Given the description of an element on the screen output the (x, y) to click on. 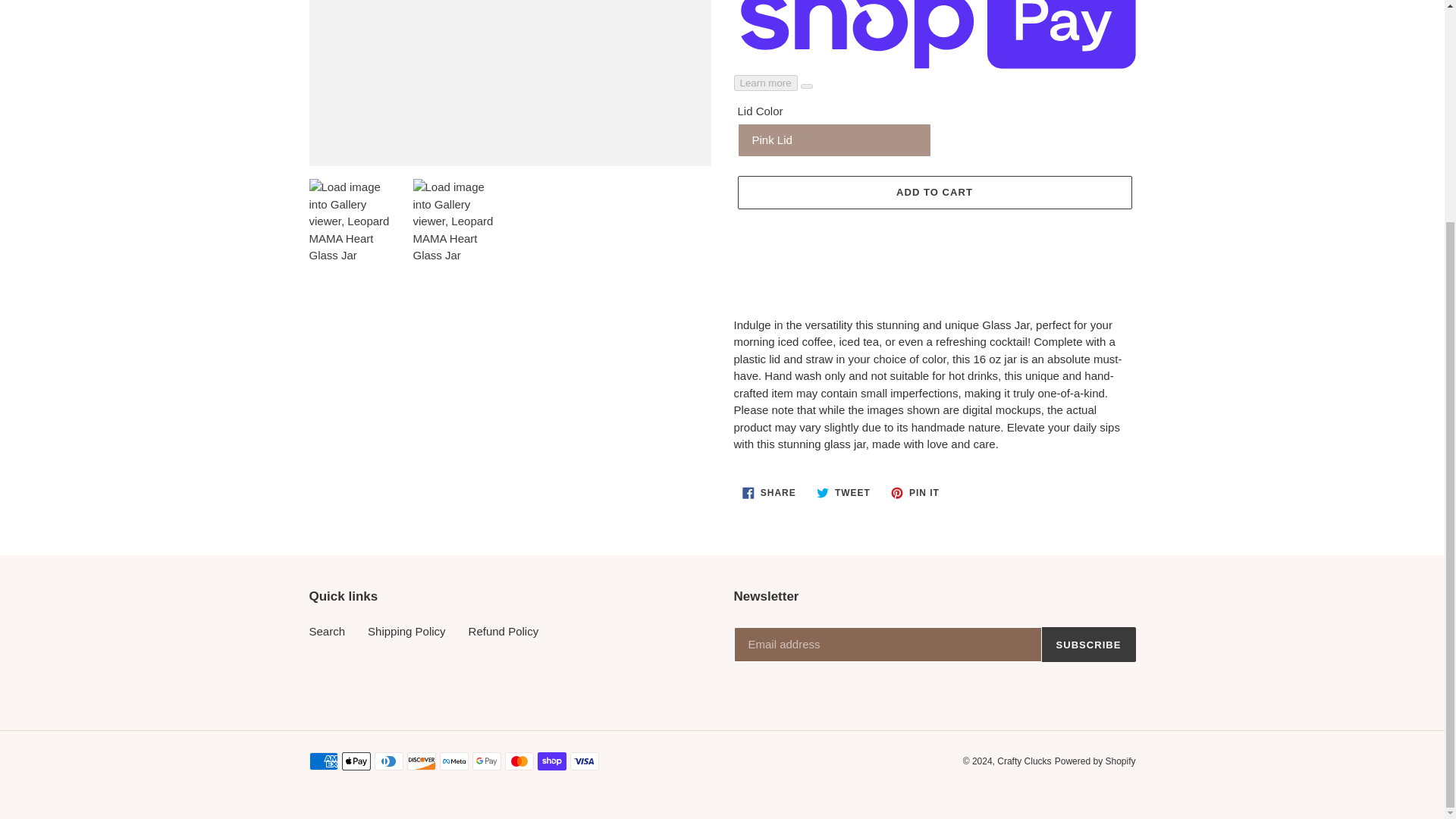
ADD TO CART (769, 492)
